Given the description of an element on the screen output the (x, y) to click on. 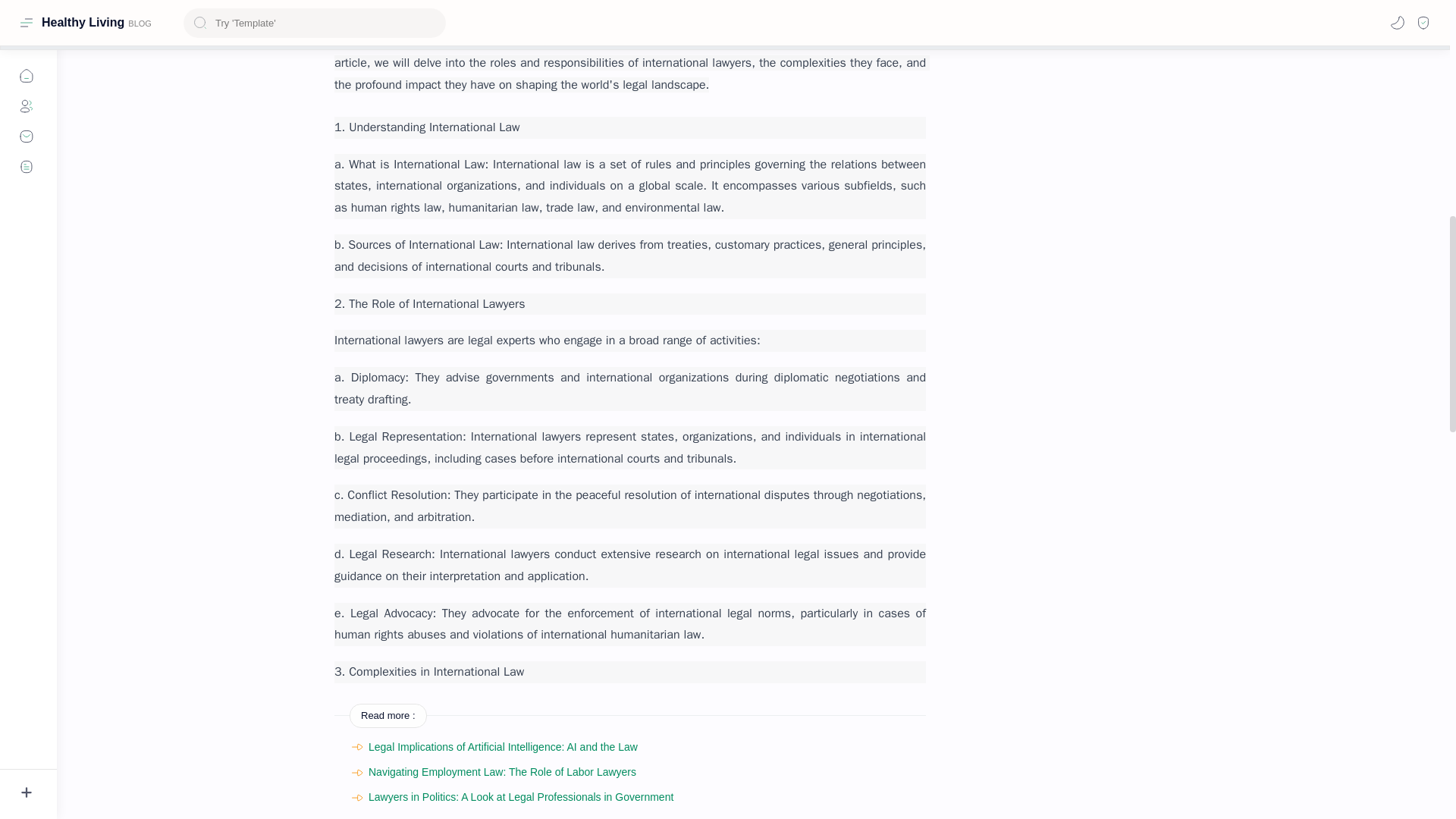
Navigating Employment Law: The Role of Labor Lawyers (502, 771)
